Given the description of an element on the screen output the (x, y) to click on. 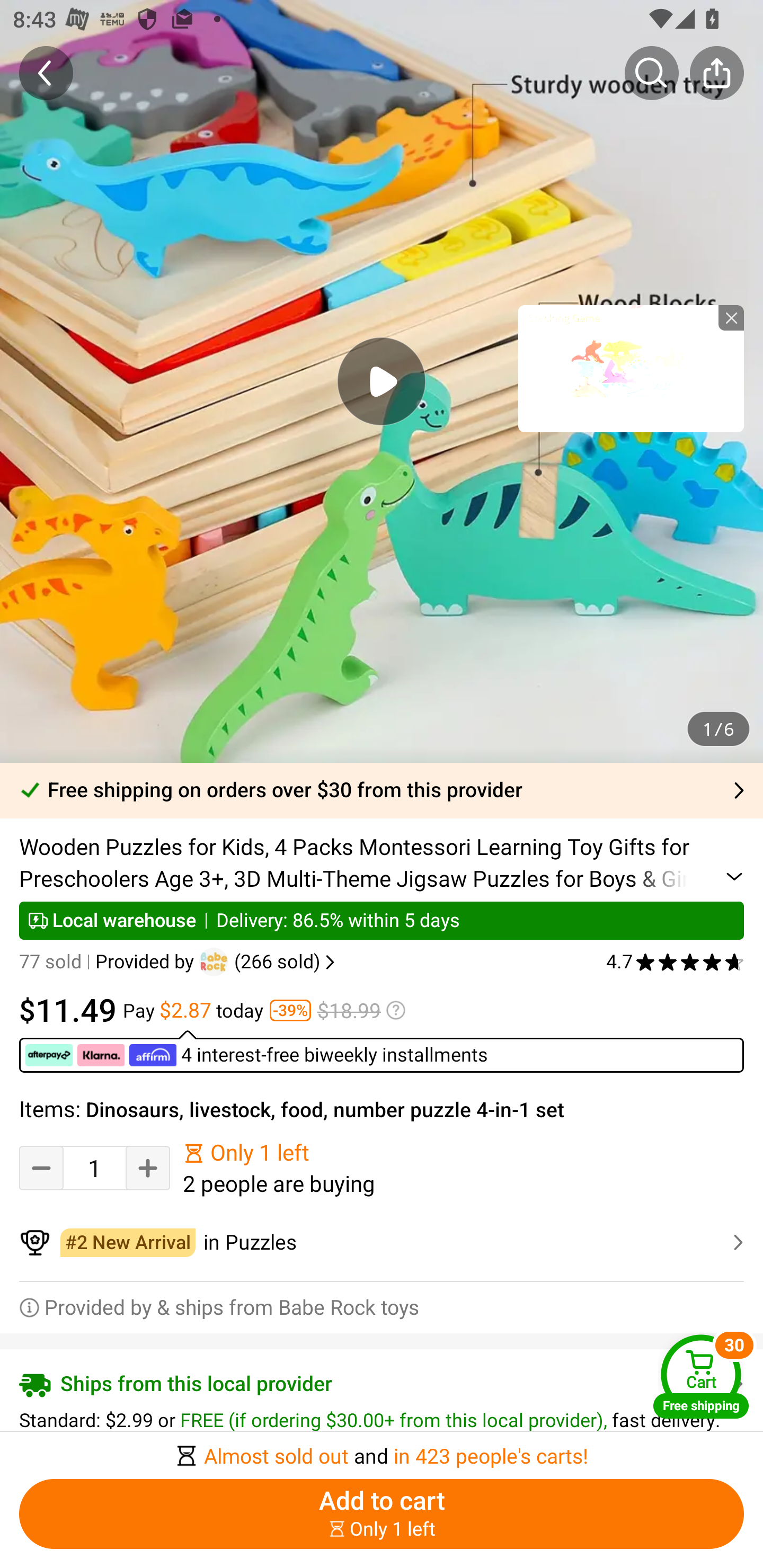
Back (46, 72)
Share (716, 72)
tronplayer_view (631, 368)
Local warehouse Delivery: 86.5% within 5 days (381, 920)
77 sold Provided by  (109, 961)
4.7 (674, 961)
￼ ￼ ￼ 4 interest-free biweekly installments (381, 1051)
Decrease Quantity Button (41, 1168)
Add Quantity button (147, 1168)
1 (94, 1168)
￼￼in Puzzles (381, 1242)
Cart Free shipping Cart (701, 1375)
￼￼Almost sold out and in 423 people's carts! (381, 1450)
Add to cart ￼￼Only 1 left (381, 1513)
